Given the description of an element on the screen output the (x, y) to click on. 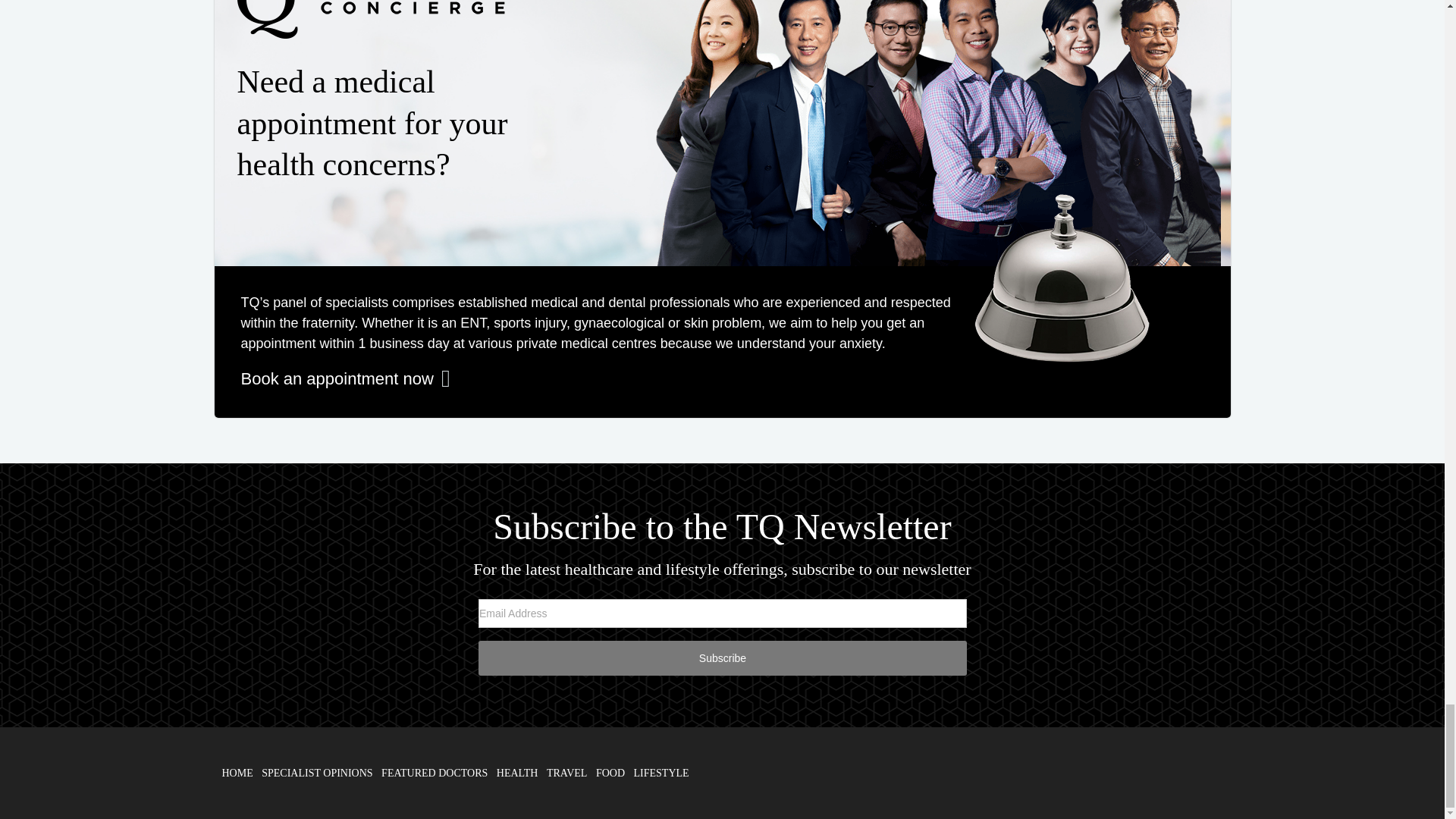
LIFESTYLE (660, 772)
FEATURED DOCTORS (434, 772)
HEALTH (517, 772)
Book an appointment now (345, 378)
HOME (236, 772)
FOOD (609, 772)
SPECIALIST OPINIONS (317, 772)
TRAVEL (566, 772)
